Given the description of an element on the screen output the (x, y) to click on. 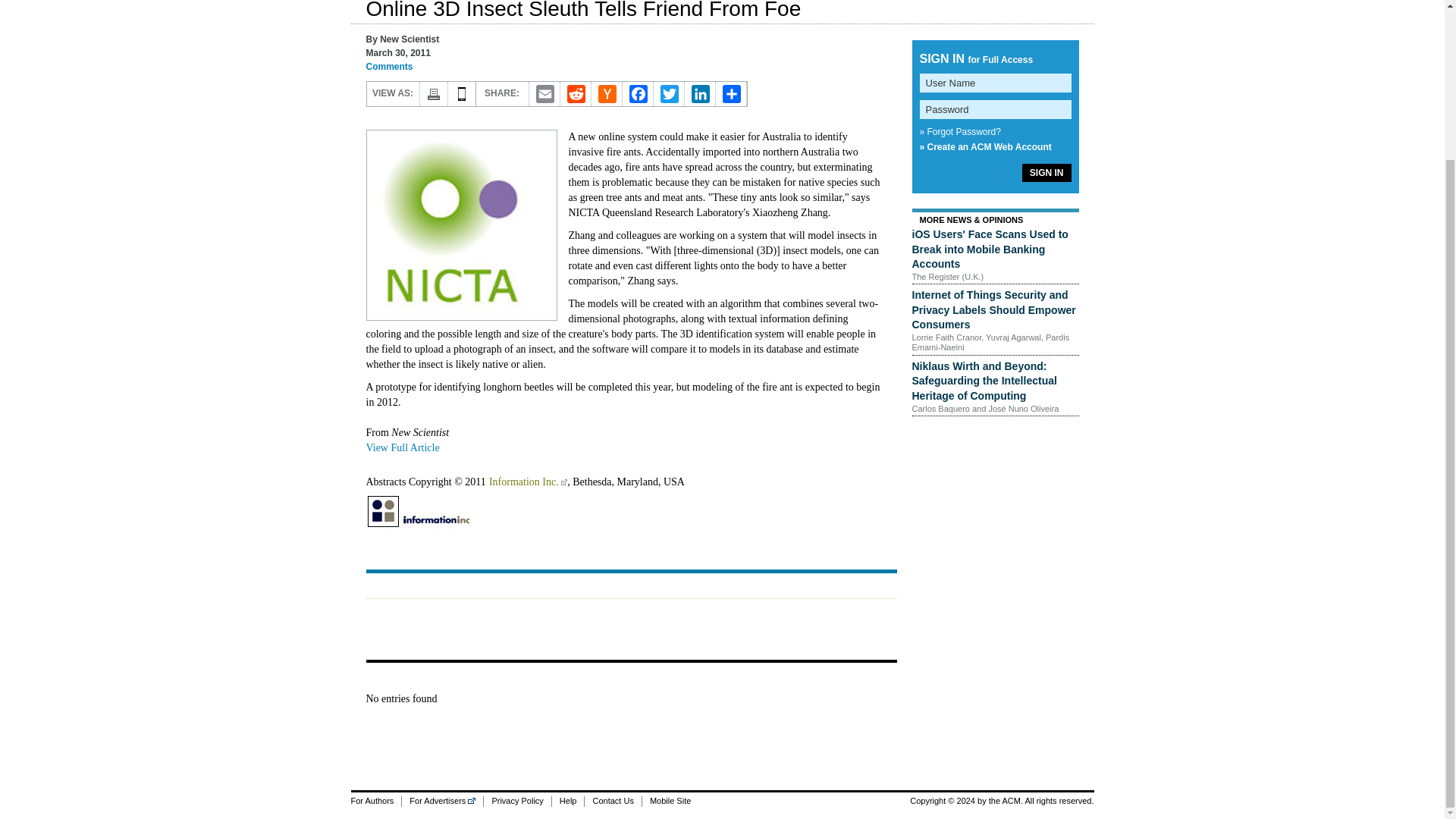
This link opens off-site (563, 482)
NICTA (460, 225)
Contact Us (611, 800)
MOBILE APPS (461, 93)
For Advertisers (442, 800)
For Authors (375, 800)
Print (434, 93)
Help (568, 800)
Privacy Policy (516, 800)
